Given the description of an element on the screen output the (x, y) to click on. 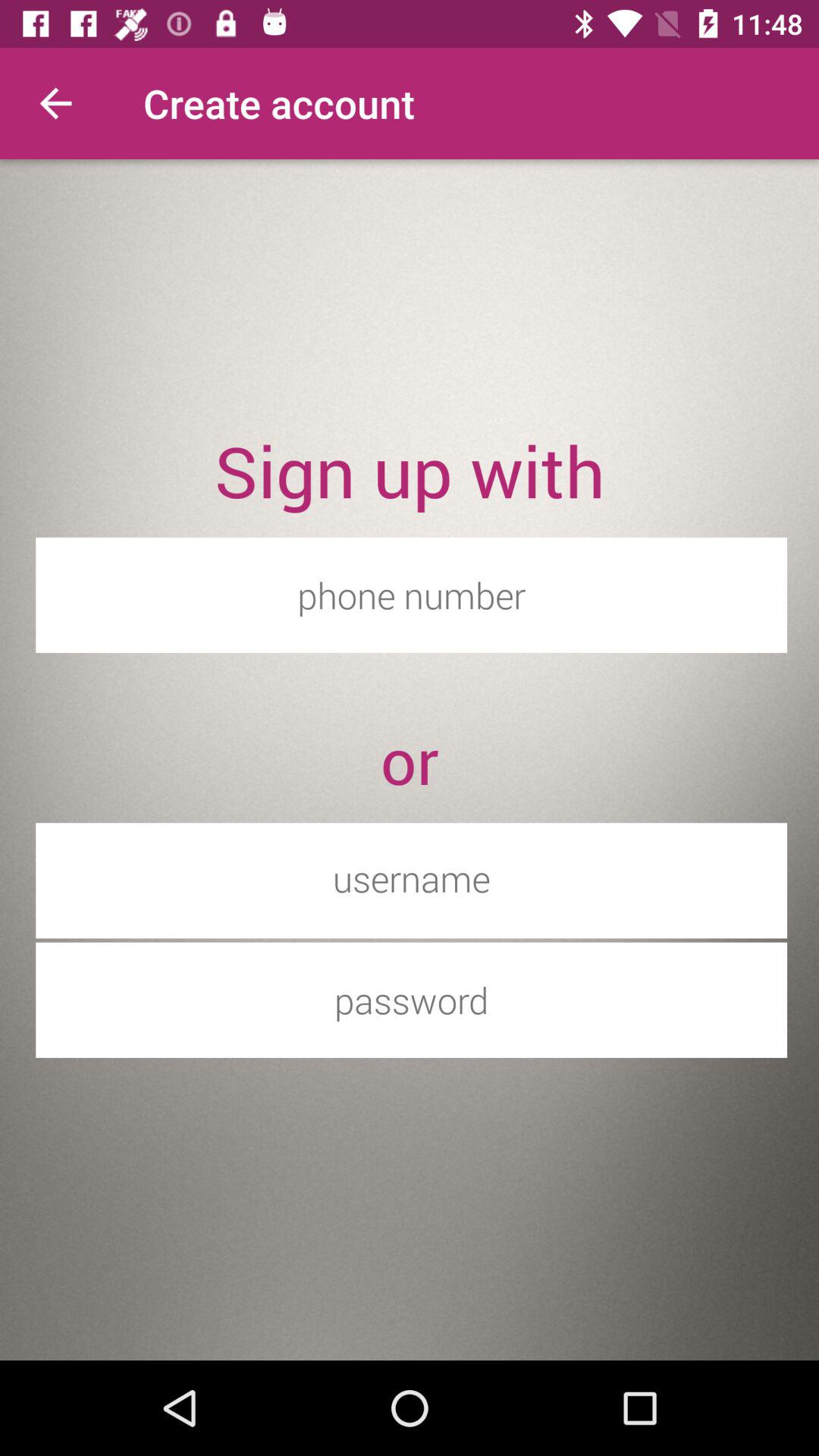
launch item to the left of create account icon (55, 103)
